Given the description of an element on the screen output the (x, y) to click on. 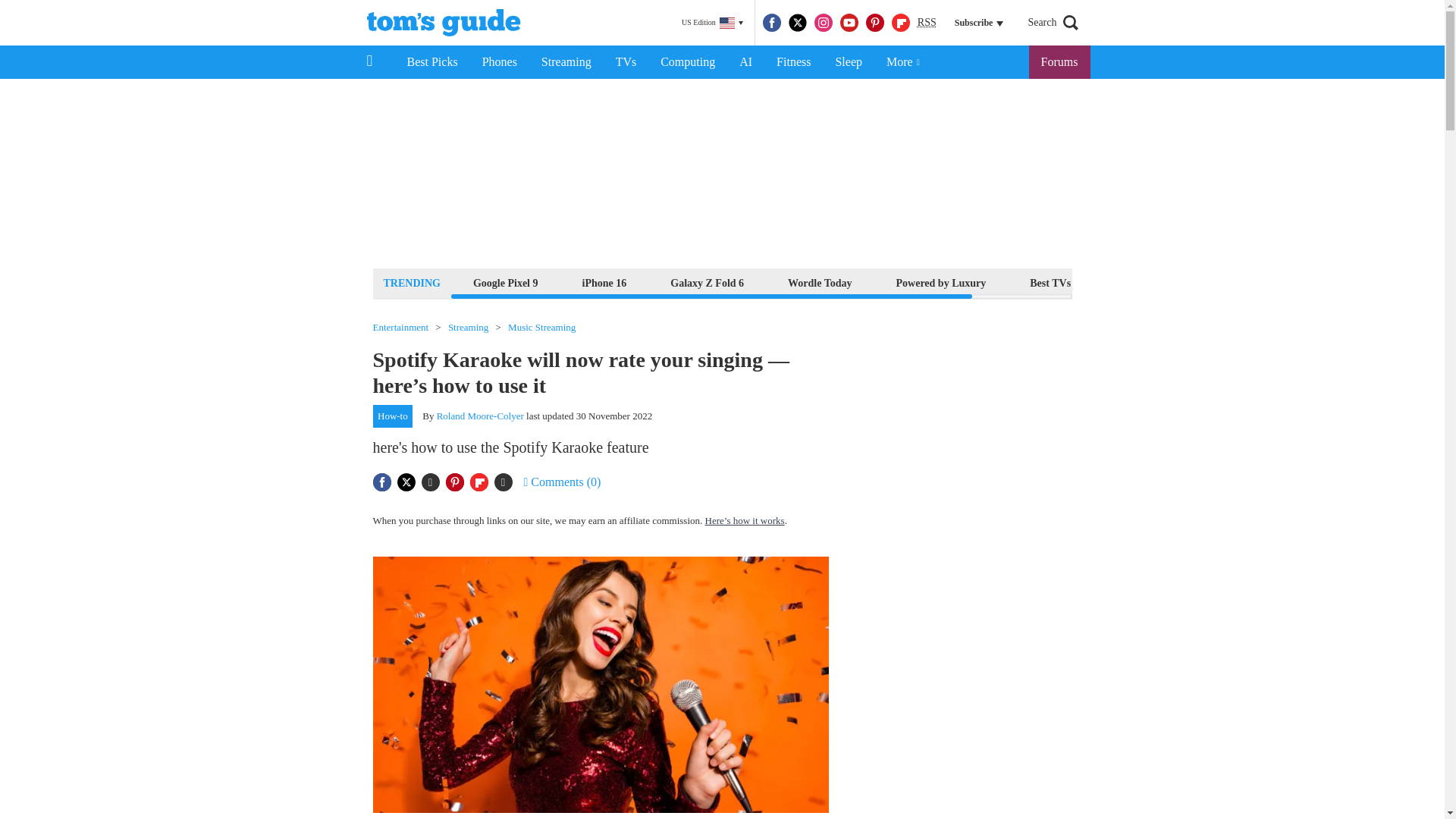
Really Simple Syndication (926, 21)
Computing (686, 61)
Fitness (793, 61)
Phones (499, 61)
Sleep (848, 61)
Streaming (566, 61)
TVs (626, 61)
RSS (926, 22)
AI (745, 61)
US Edition (712, 22)
